Given the description of an element on the screen output the (x, y) to click on. 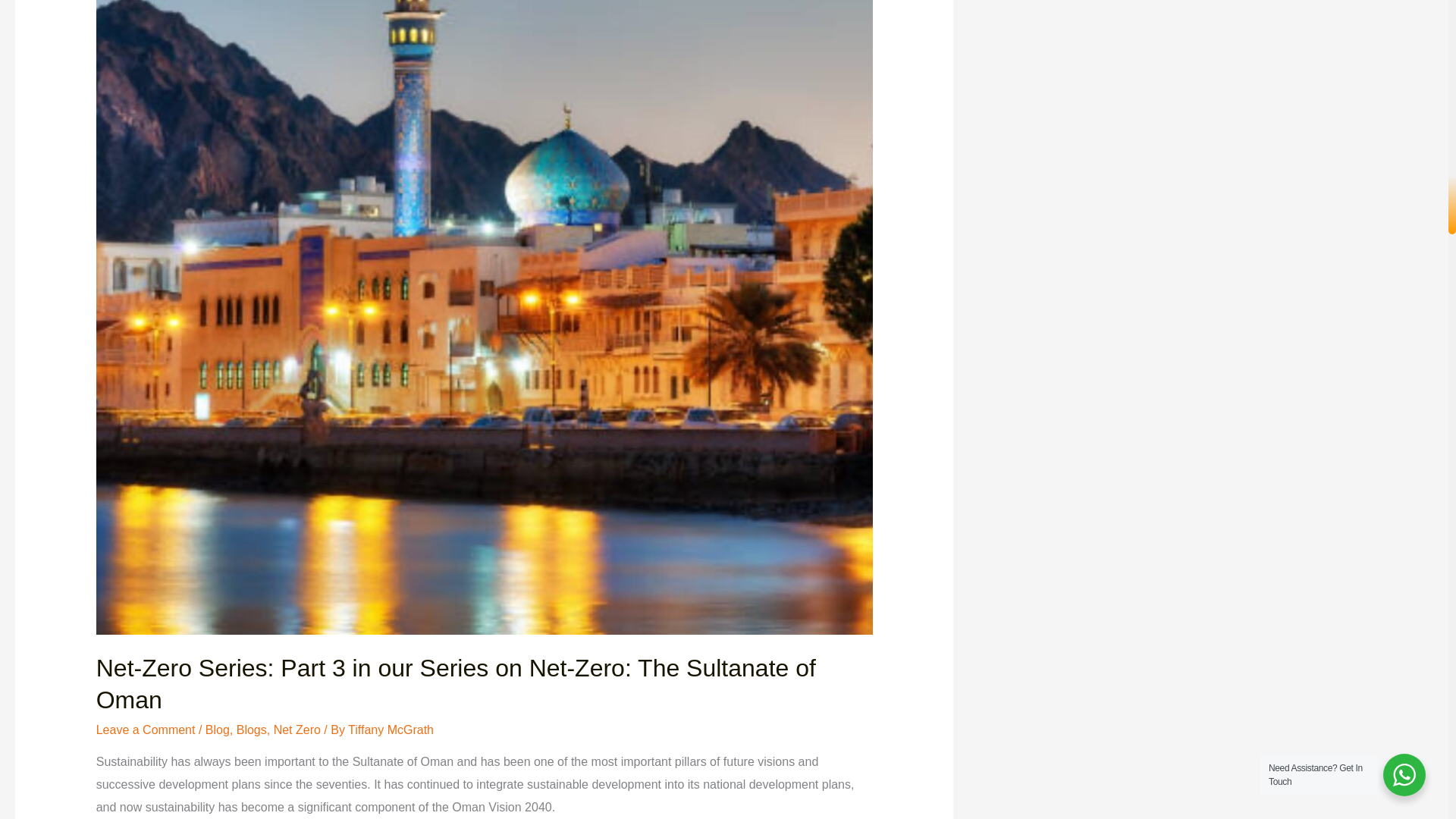
View all posts by Tiffany McGrath (390, 729)
